Given the description of an element on the screen output the (x, y) to click on. 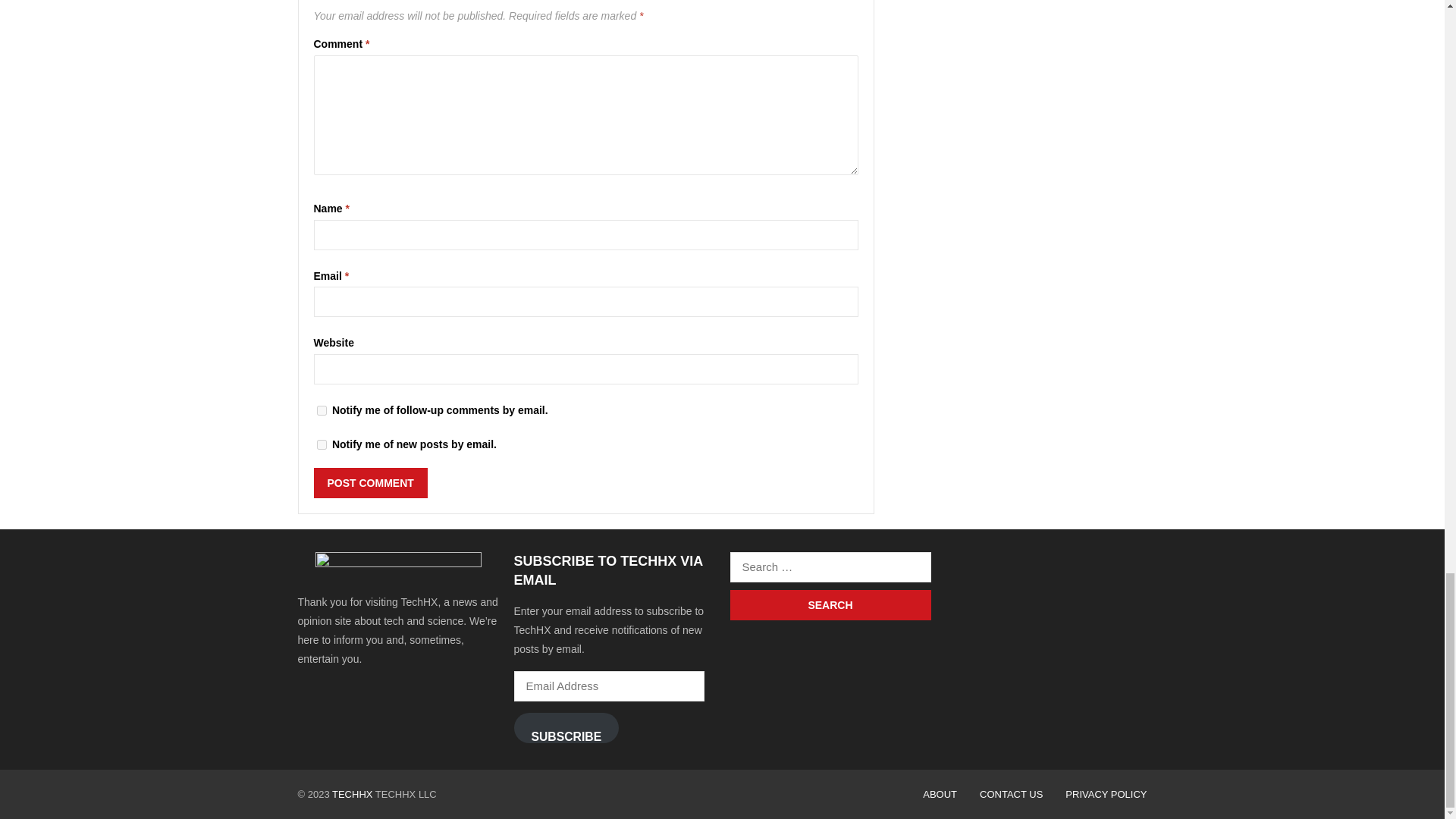
Search (829, 604)
Search (829, 604)
subscribe (321, 410)
Post Comment (371, 482)
subscribe (321, 444)
Post Comment (371, 482)
